Given the description of an element on the screen output the (x, y) to click on. 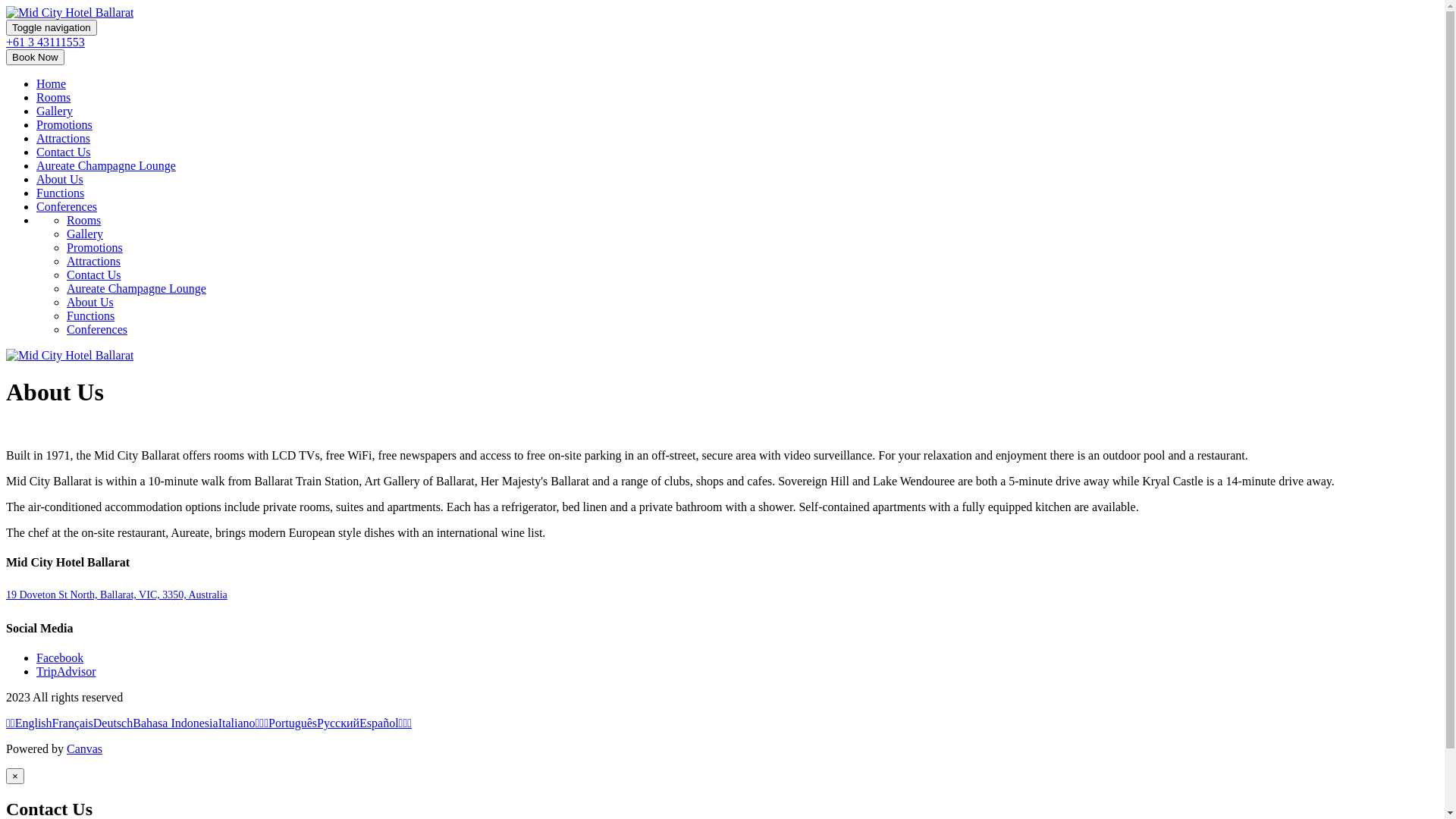
English Element type: text (33, 722)
Gallery Element type: text (84, 233)
Functions Element type: text (90, 315)
About Us Element type: text (59, 178)
Aureate Champagne Lounge Element type: text (105, 165)
Gallery Element type: text (54, 110)
Canvas Element type: text (84, 748)
About Us Element type: text (89, 301)
Rooms Element type: text (83, 219)
Contact Us Element type: text (63, 151)
Contact Us Element type: text (93, 274)
Deutsch Element type: text (112, 722)
Facebook Element type: text (59, 657)
Italiano Element type: text (236, 722)
19 Doveton St North, Ballarat, VIC, 3350, Australia Element type: text (116, 594)
Home Element type: text (50, 83)
Aureate Champagne Lounge Element type: text (136, 288)
Attractions Element type: text (93, 260)
Book Now Element type: text (35, 57)
Promotions Element type: text (94, 247)
Conferences Element type: text (66, 206)
Conferences Element type: text (96, 329)
Promotions Element type: text (64, 124)
Toggle navigation Element type: text (51, 27)
Functions Element type: text (60, 192)
Rooms Element type: text (53, 97)
Attractions Element type: text (63, 137)
TripAdvisor Element type: text (66, 671)
+61 3 43111553 Element type: text (45, 41)
Bahasa Indonesia Element type: text (174, 722)
